Given the description of an element on the screen output the (x, y) to click on. 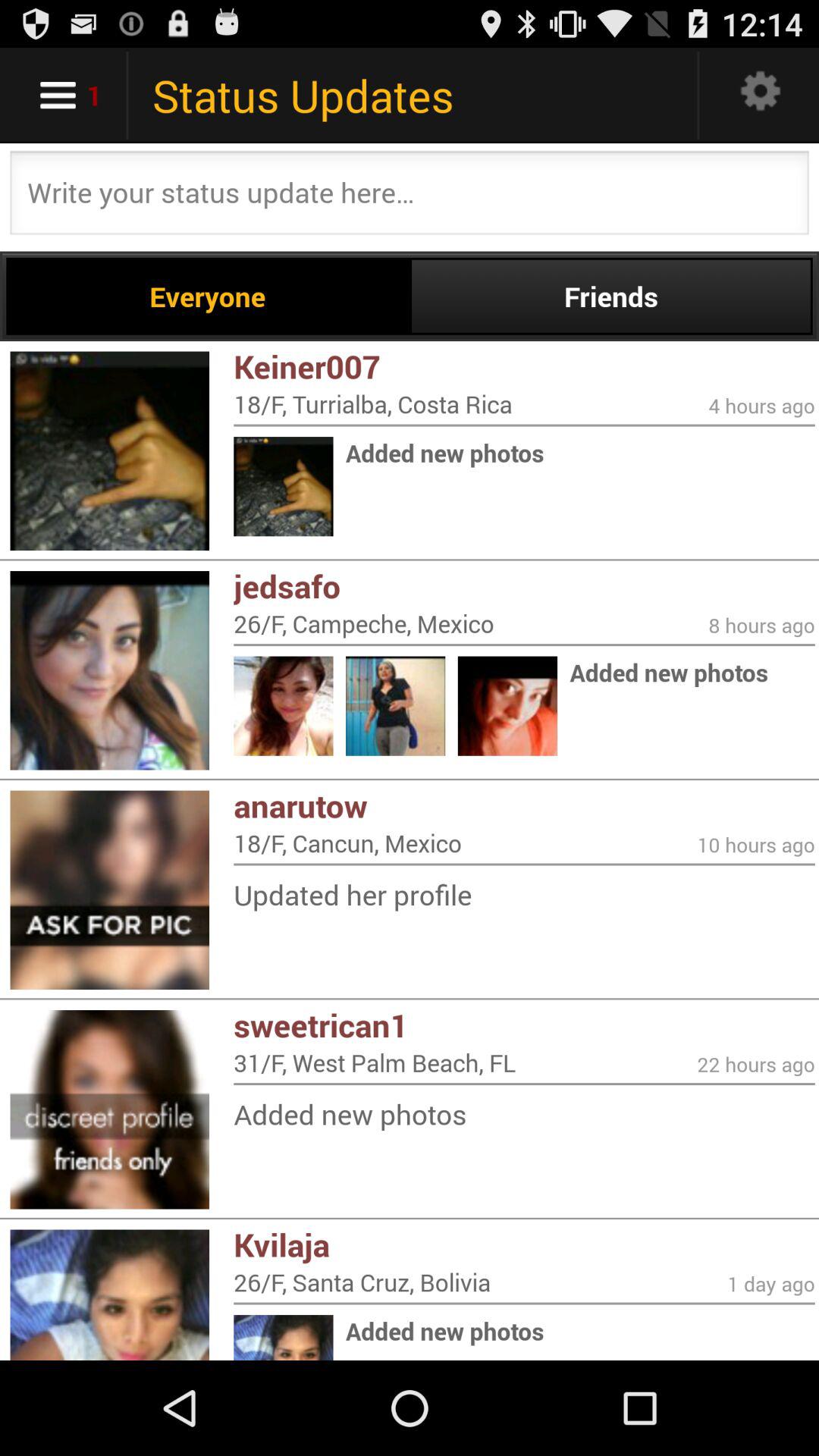
launch the friends item (610, 295)
